Given the description of an element on the screen output the (x, y) to click on. 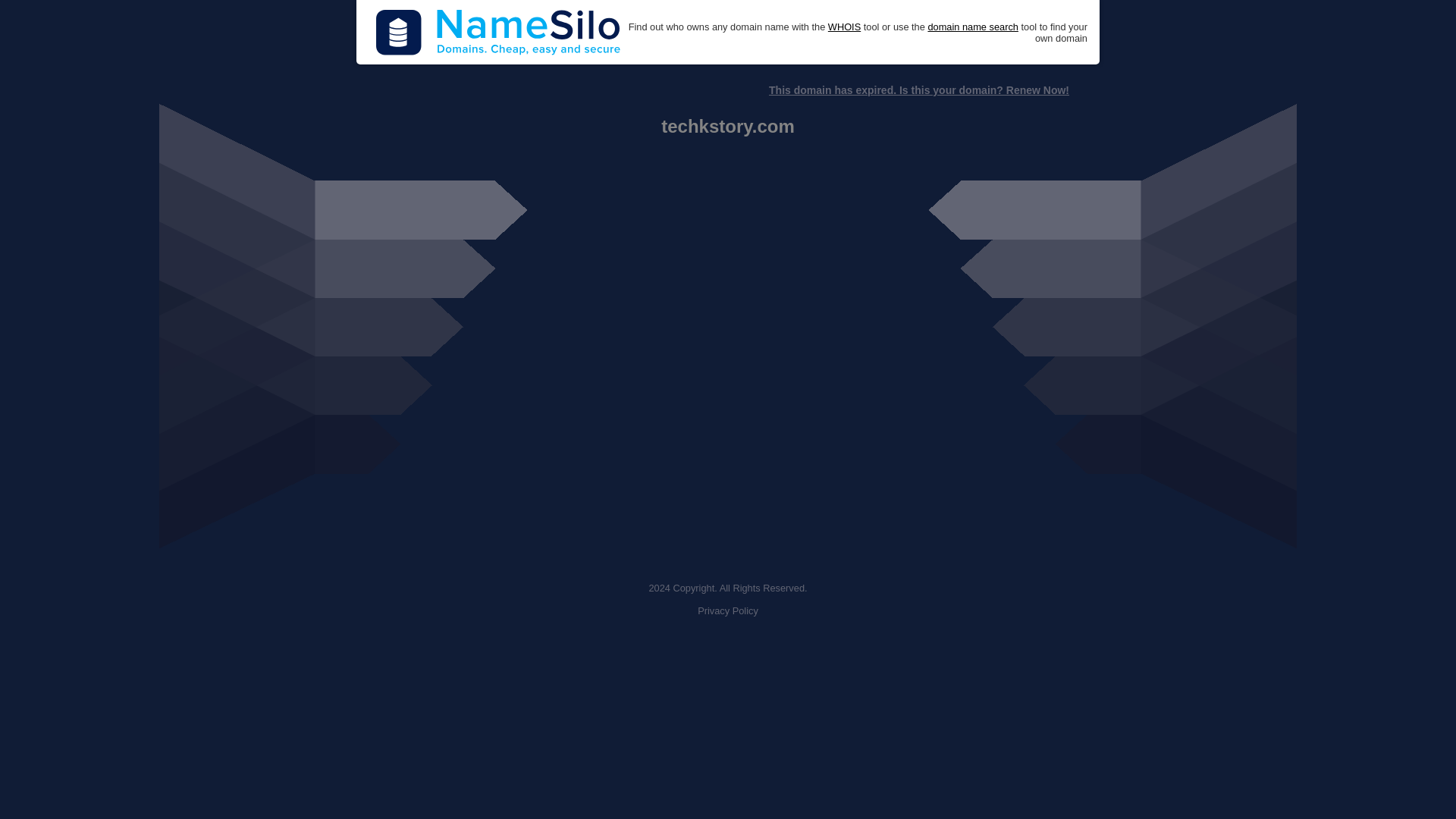
domain name search (972, 26)
This domain has expired. Is this your domain? Renew Now! (918, 90)
WHOIS (844, 26)
Privacy Policy (727, 610)
